Given the description of an element on the screen output the (x, y) to click on. 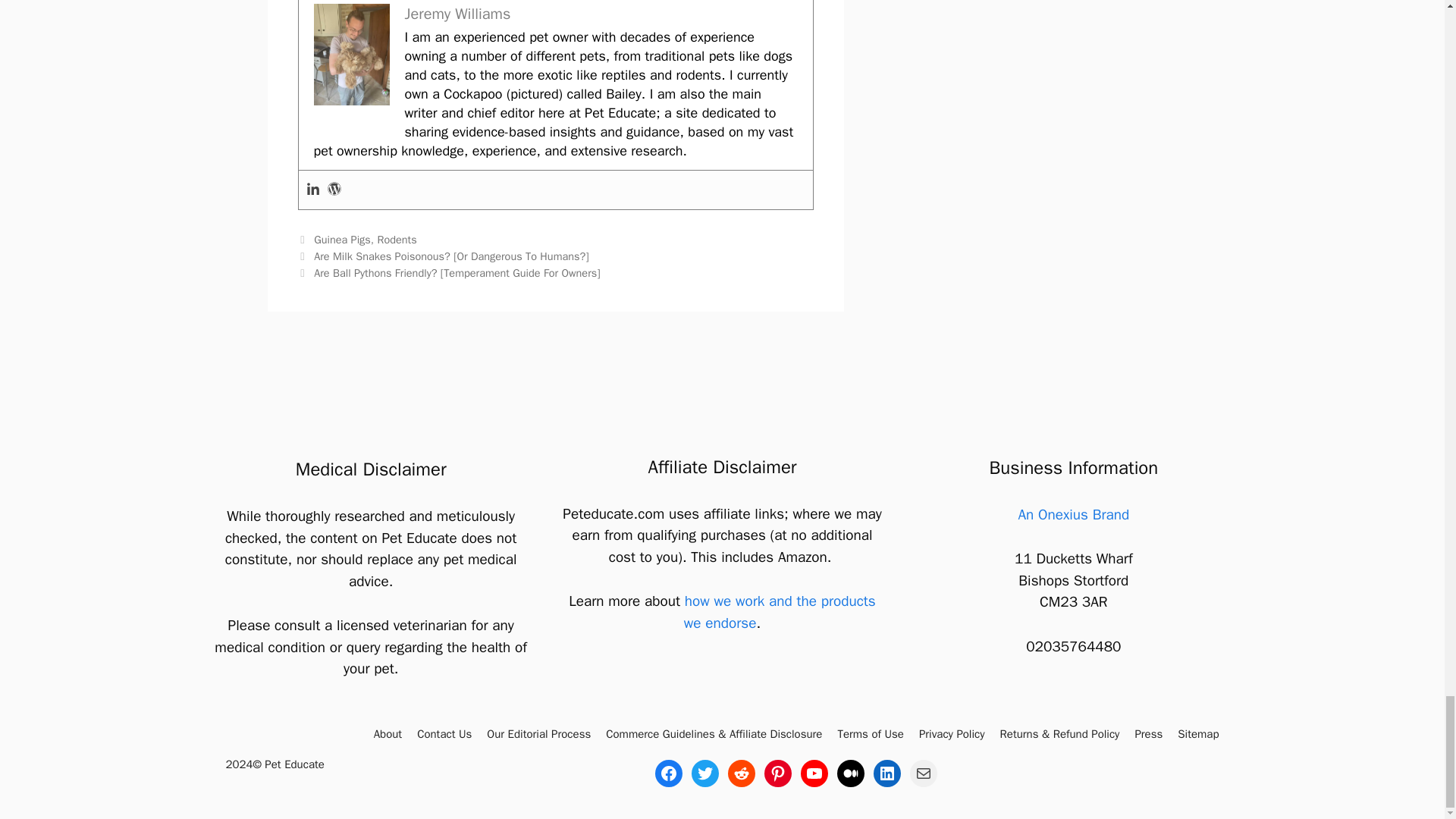
Linkedin (312, 189)
Wordpress (333, 189)
